Given the description of an element on the screen output the (x, y) to click on. 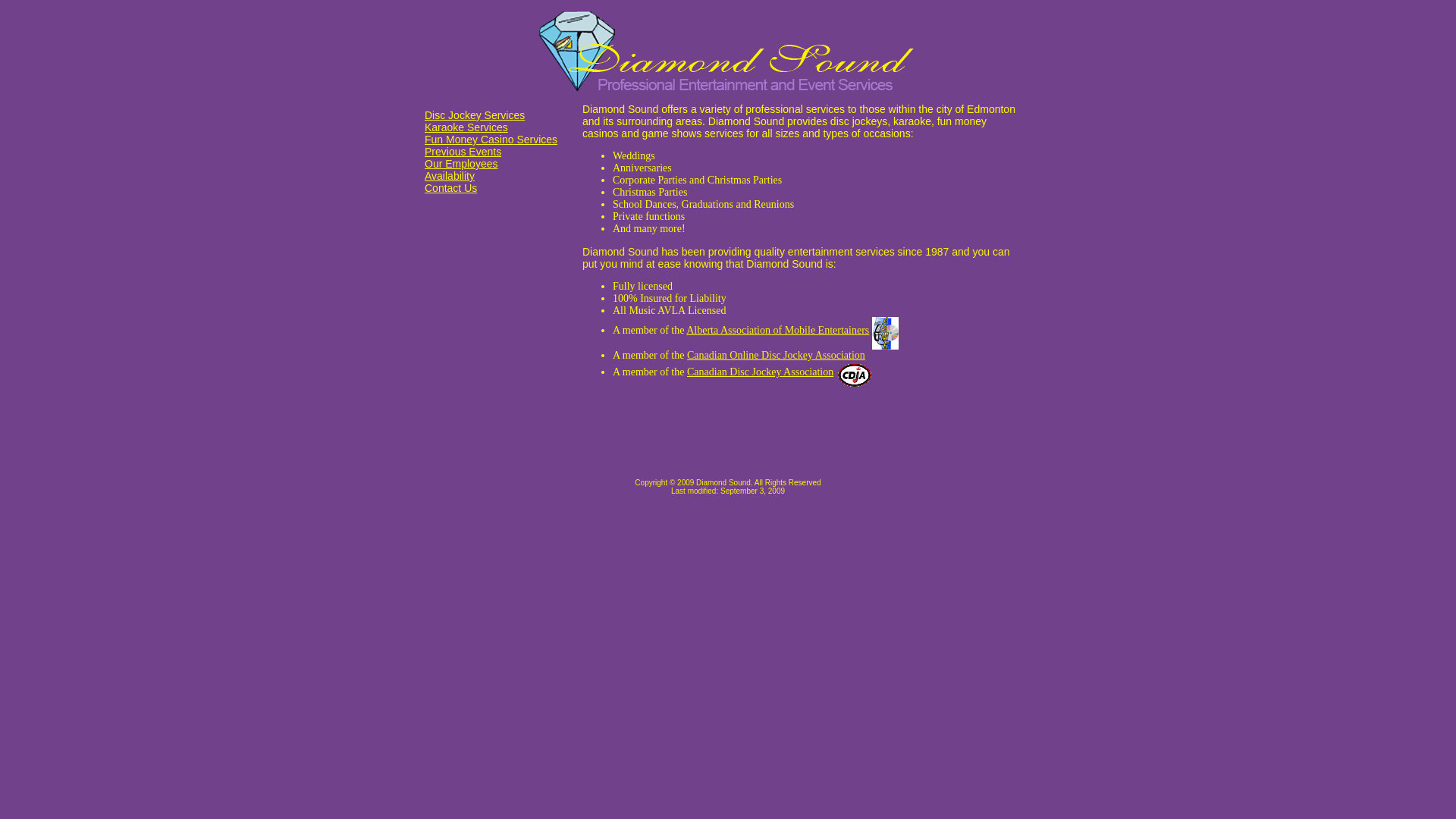
Previous Events Element type: text (462, 151)
Availability Element type: text (449, 175)
Our Employees Element type: text (460, 163)
Disc Jockey Services Element type: text (474, 115)
Contact Us Element type: text (450, 188)
Karaoke Services Element type: text (466, 127)
Fun Money Casino Services Element type: text (490, 139)
